Given the description of an element on the screen output the (x, y) to click on. 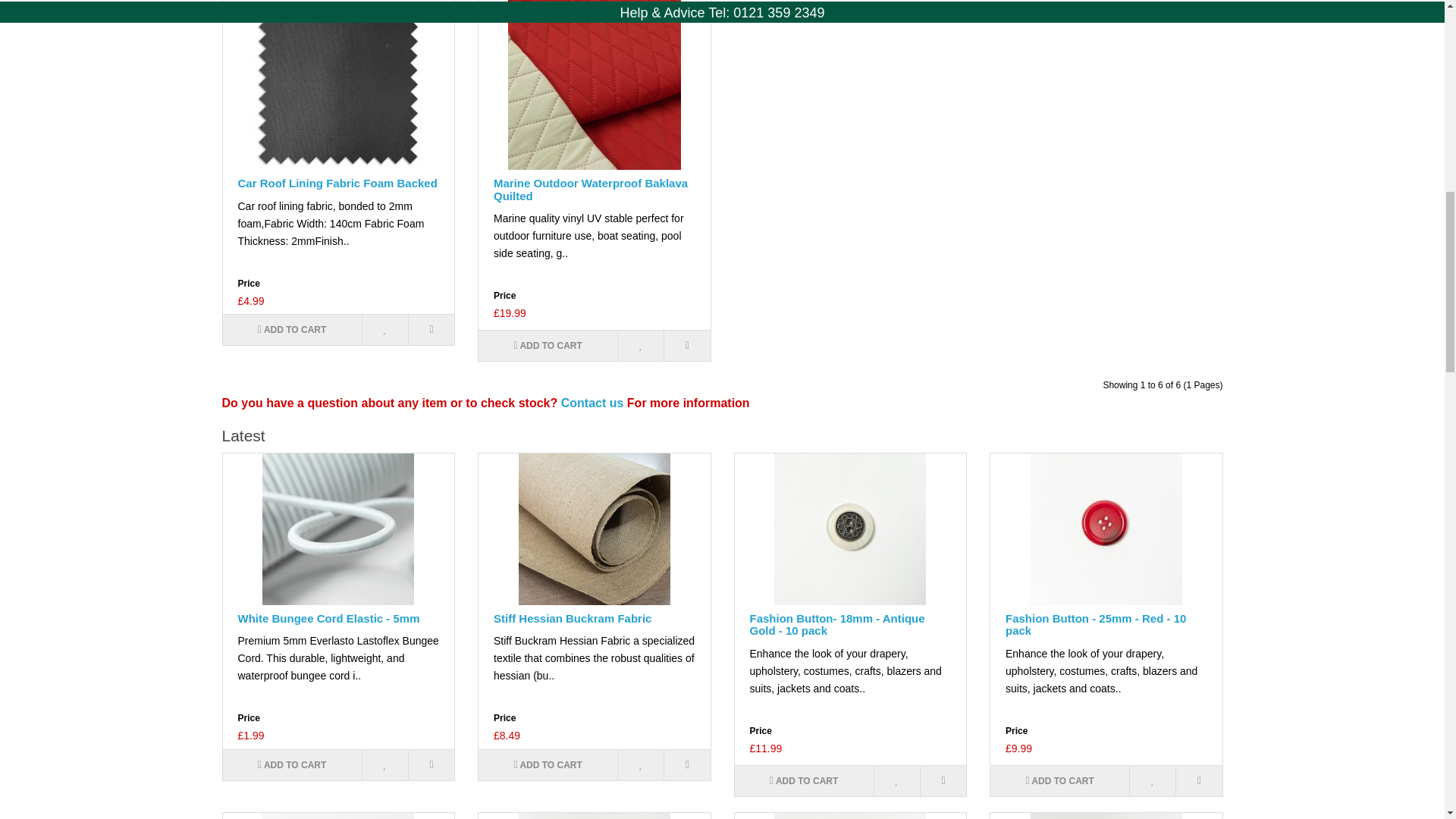
Car Roof  Lining Fabric Foam Backed (338, 84)
